Given the description of an element on the screen output the (x, y) to click on. 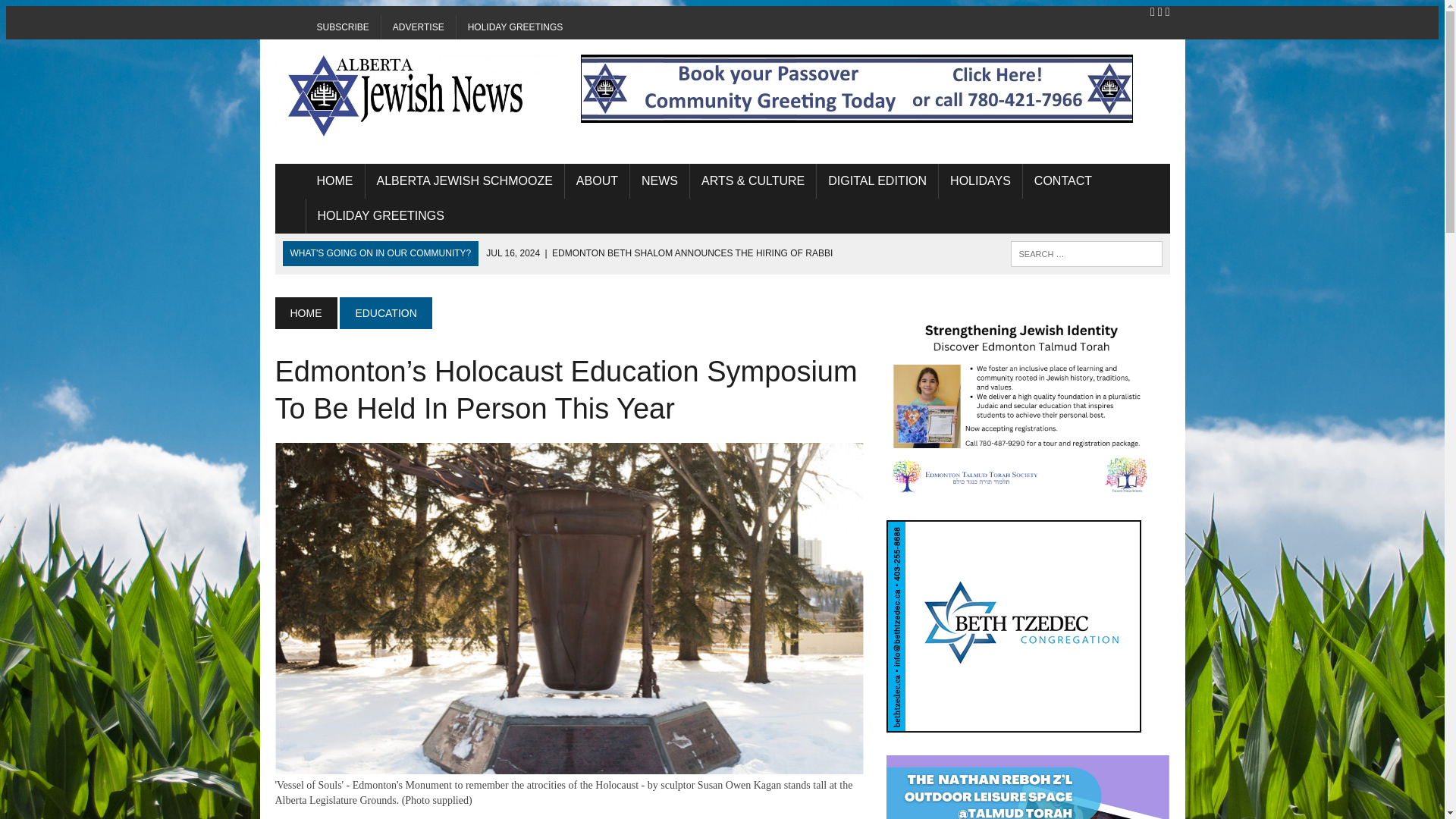
ADVERTISE (418, 27)
HOLIDAY GREETINGS (516, 27)
HOME (334, 181)
Alberta Jewish News (416, 95)
NEWS (659, 181)
ABOUT (596, 181)
ALBERTA JEWISH SCHMOOZE (464, 181)
SUBSCRIBE (342, 27)
